Given the description of an element on the screen output the (x, y) to click on. 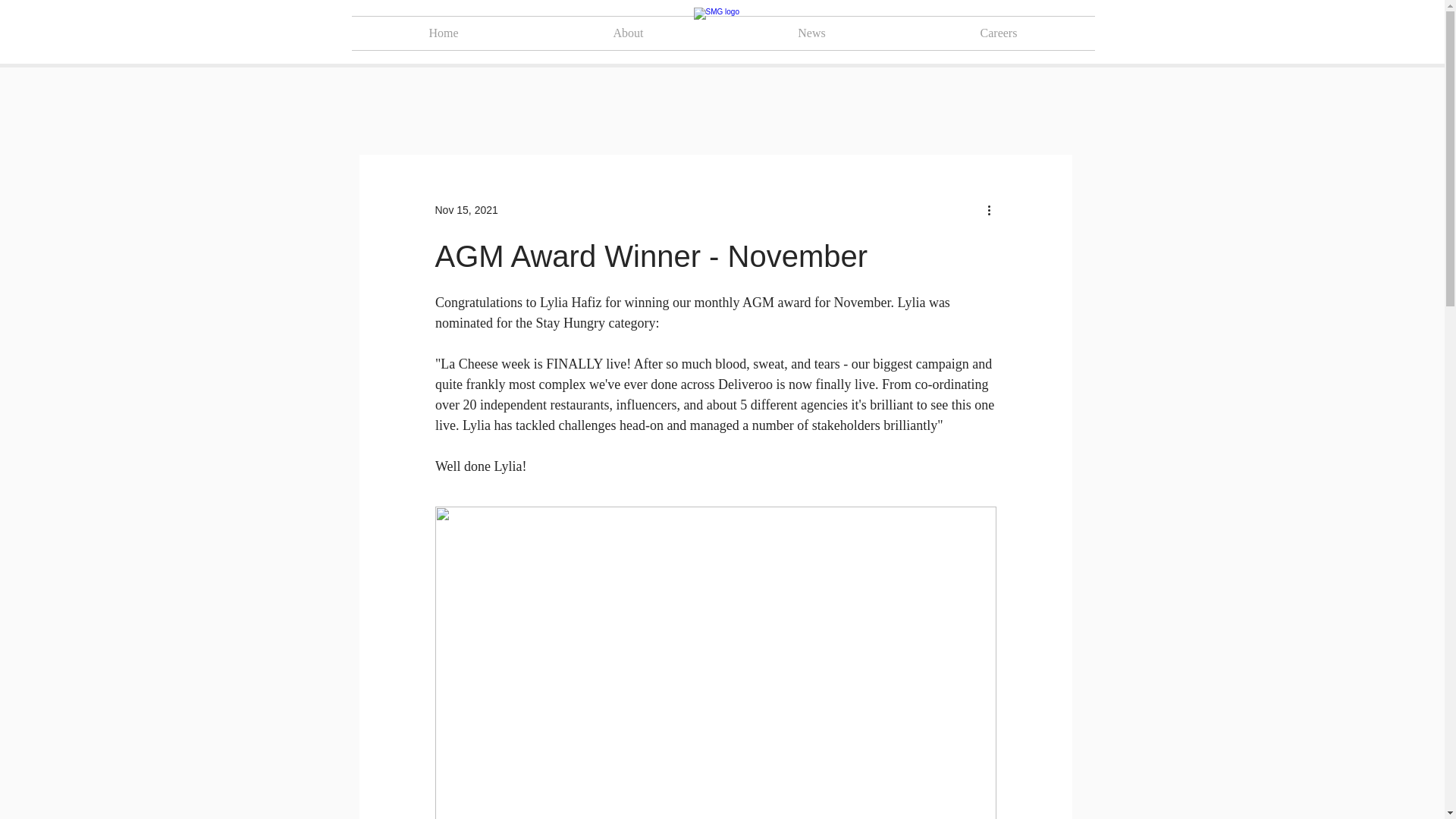
Home (443, 32)
About (627, 32)
News (811, 32)
Nov 15, 2021 (466, 209)
SMG logo (722, 33)
